Given the description of an element on the screen output the (x, y) to click on. 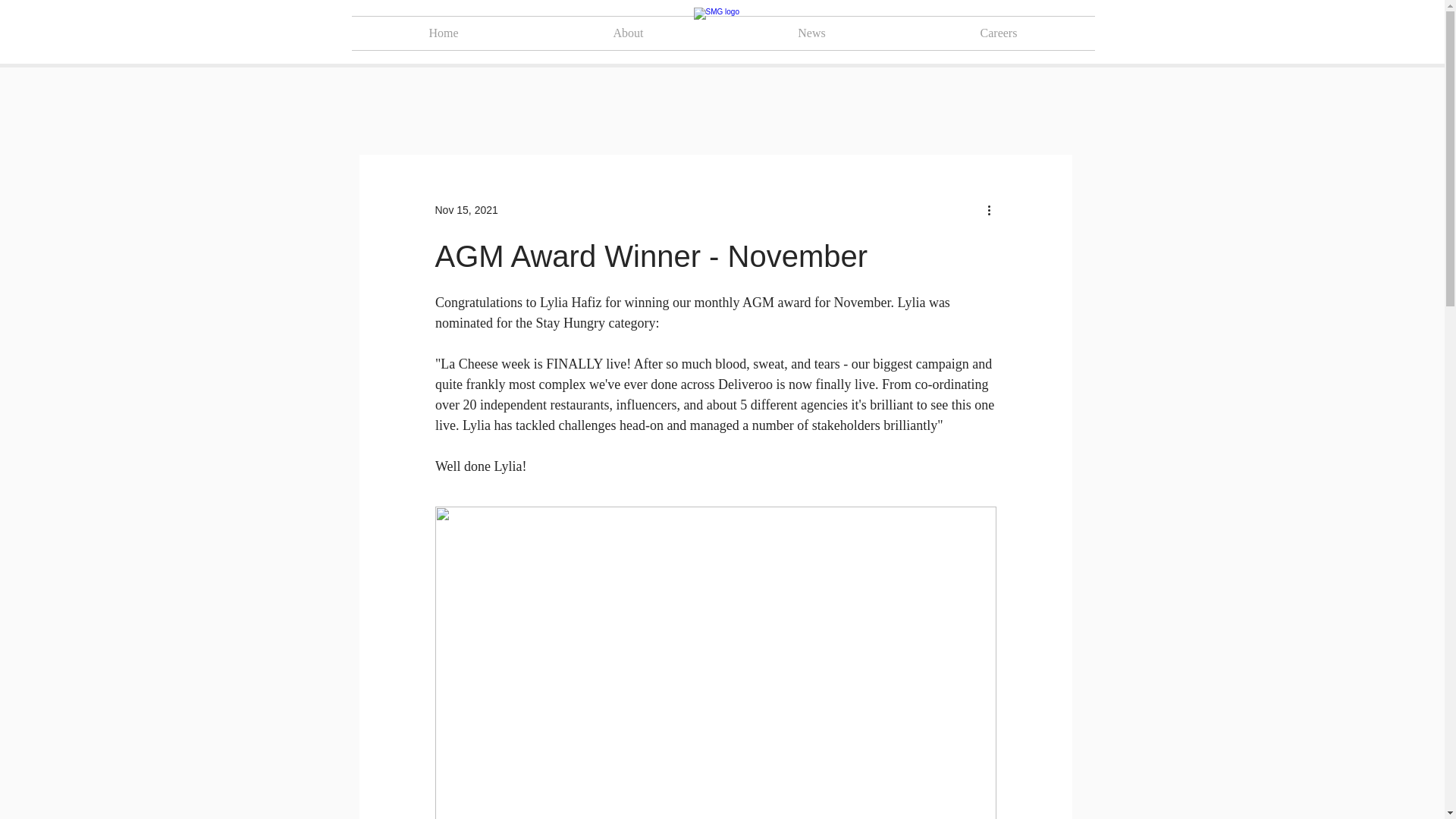
Home (443, 32)
About (627, 32)
News (811, 32)
Nov 15, 2021 (466, 209)
SMG logo (722, 33)
